Given the description of an element on the screen output the (x, y) to click on. 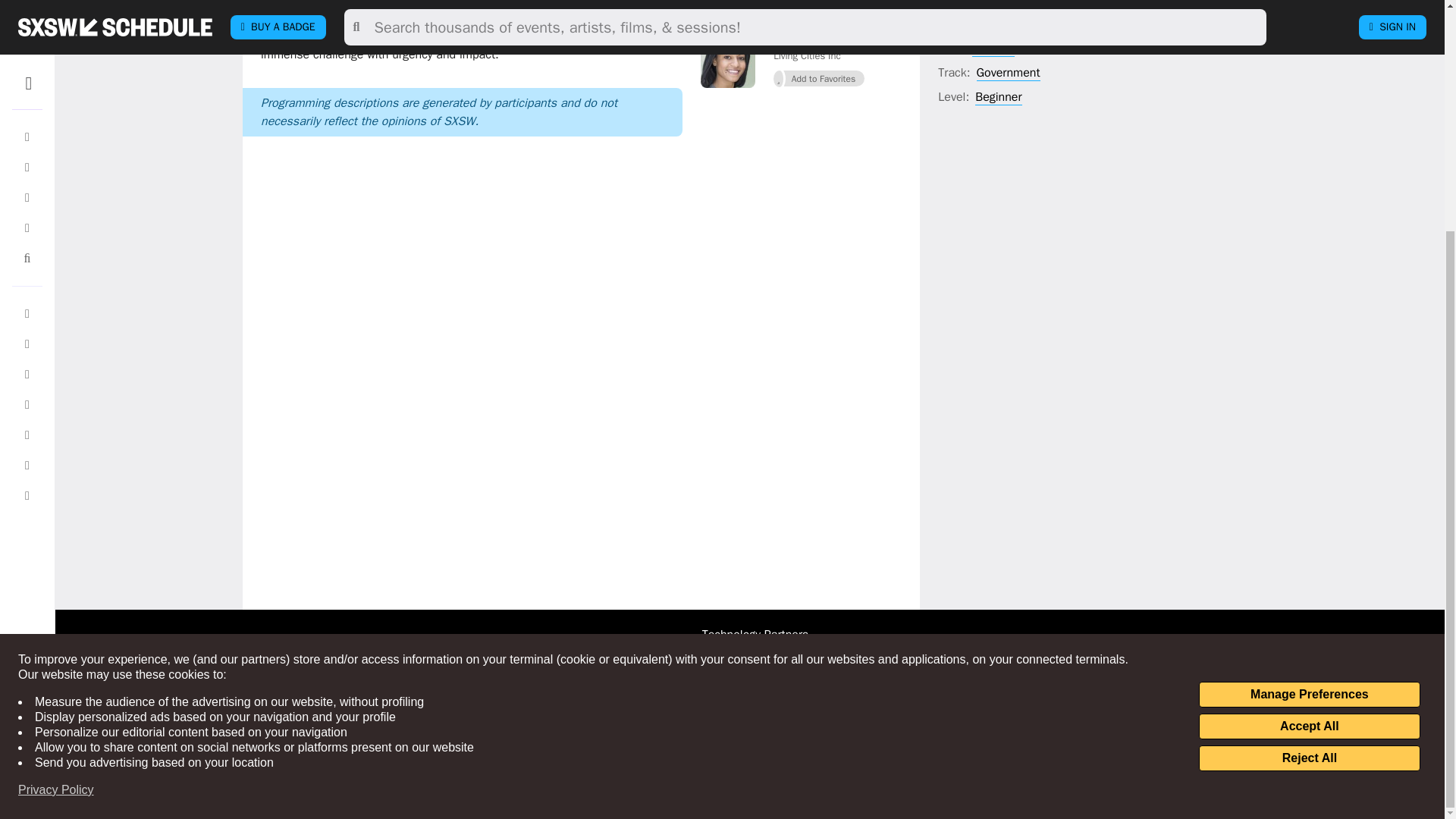
Manage Preferences (1309, 381)
Sign In to add to your favorites. (818, 78)
Reject All (1309, 445)
Privacy Policy (55, 477)
Sign In to add to your favorites. (818, 7)
Accept All (1309, 413)
